Given the description of an element on the screen output the (x, y) to click on. 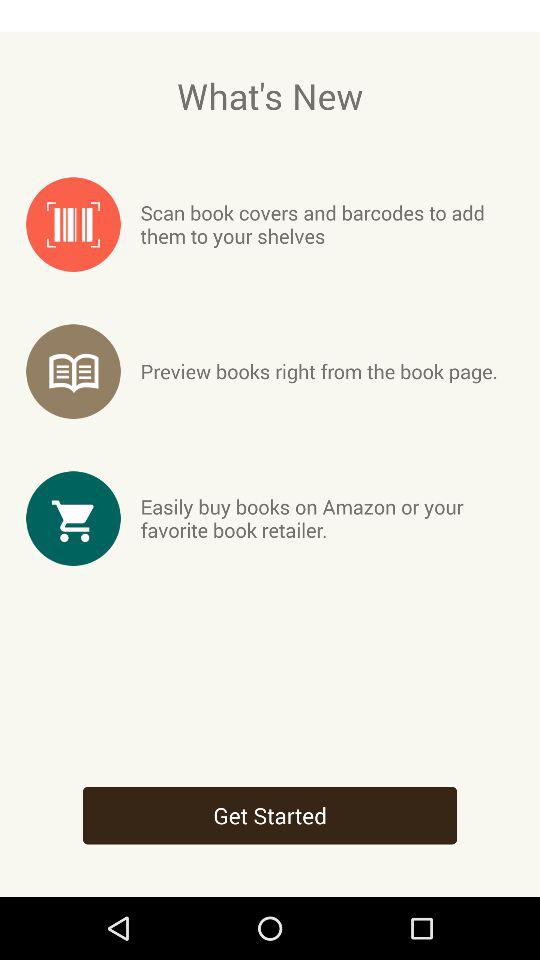
open item above get started (326, 518)
